Given the description of an element on the screen output the (x, y) to click on. 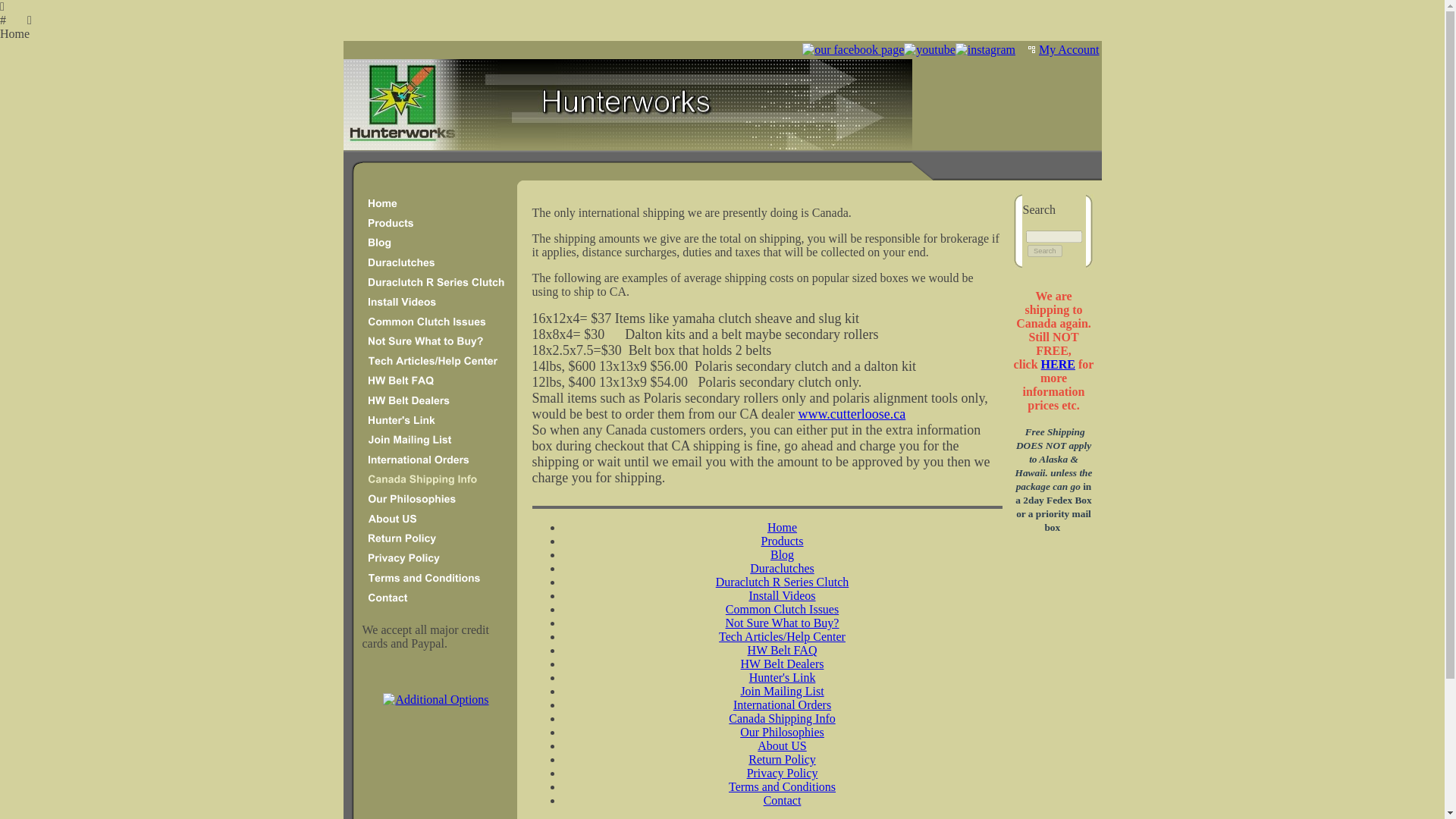
HW Belt FAQ (782, 649)
Duraclutches (781, 567)
HW Belt Dealers (782, 663)
Common Clutch Issues (781, 608)
My Account (1069, 49)
Products (782, 540)
Home (781, 526)
Search (1044, 250)
Blog (781, 554)
Not Sure What to Buy? (782, 622)
www.cutterloose.ca (851, 413)
Duraclutch R Series Clutch (782, 581)
Install Videos (781, 594)
